Given the description of an element on the screen output the (x, y) to click on. 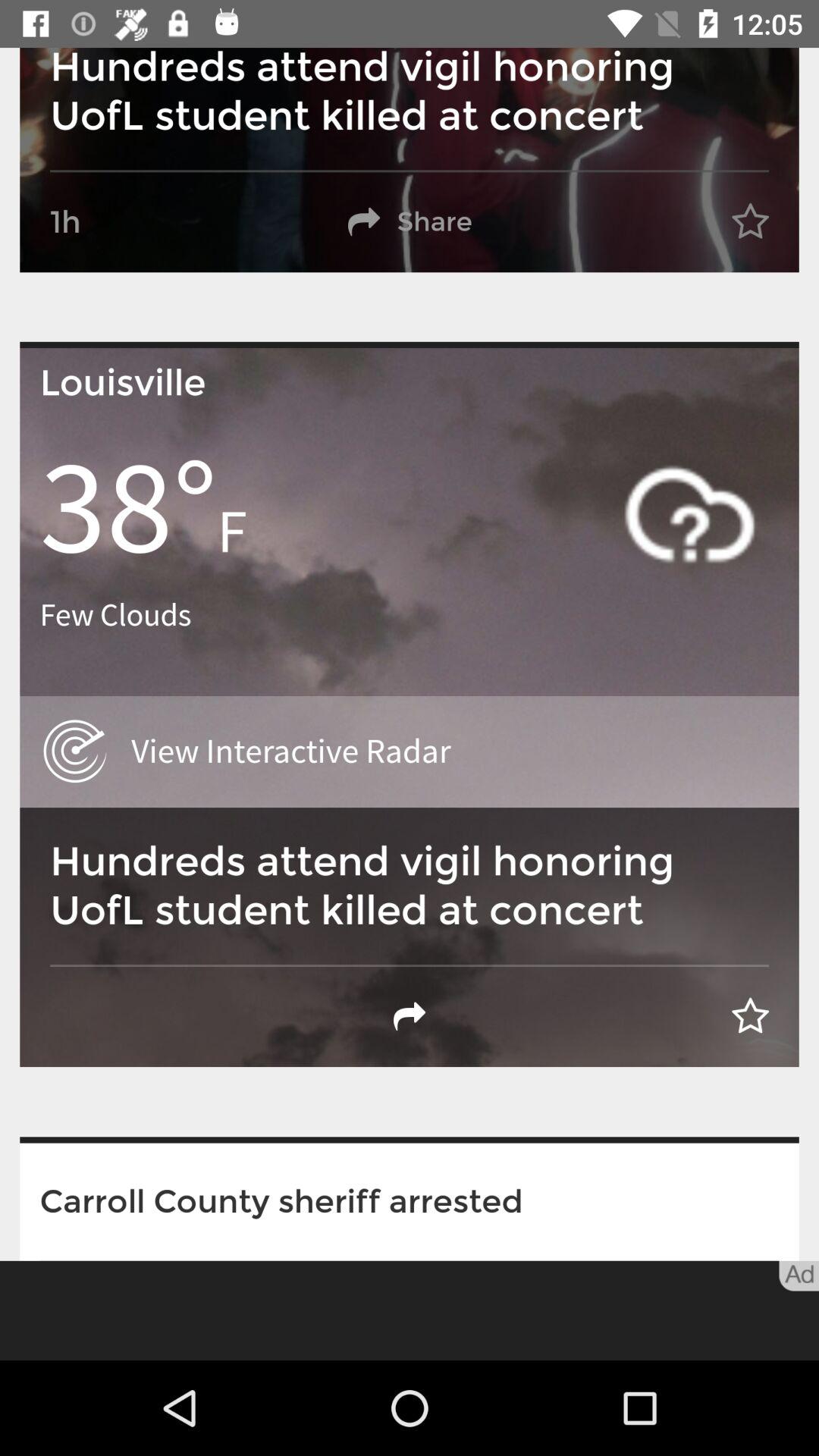
click on share button next to 1h on the top (409, 221)
the entity ad shown at the bottom right corner (799, 1275)
go to the star icon shown on the top right corner of second image (750, 1016)
tap on the second image from top (409, 707)
select the icon containing  mark (689, 514)
the star icon shown right to share (750, 221)
